Given the description of an element on the screen output the (x, y) to click on. 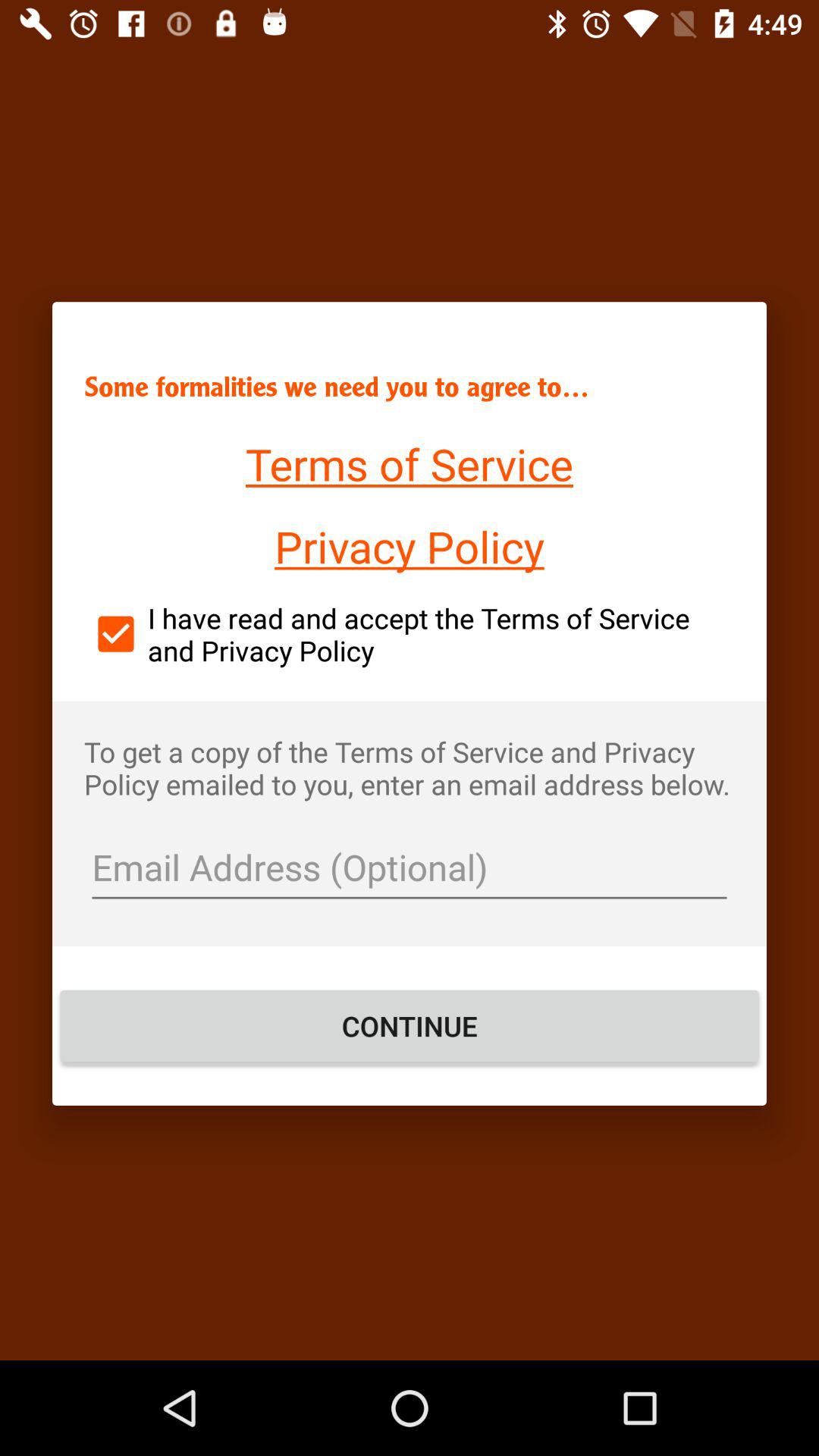
launch the item below i have read icon (409, 768)
